Given the description of an element on the screen output the (x, y) to click on. 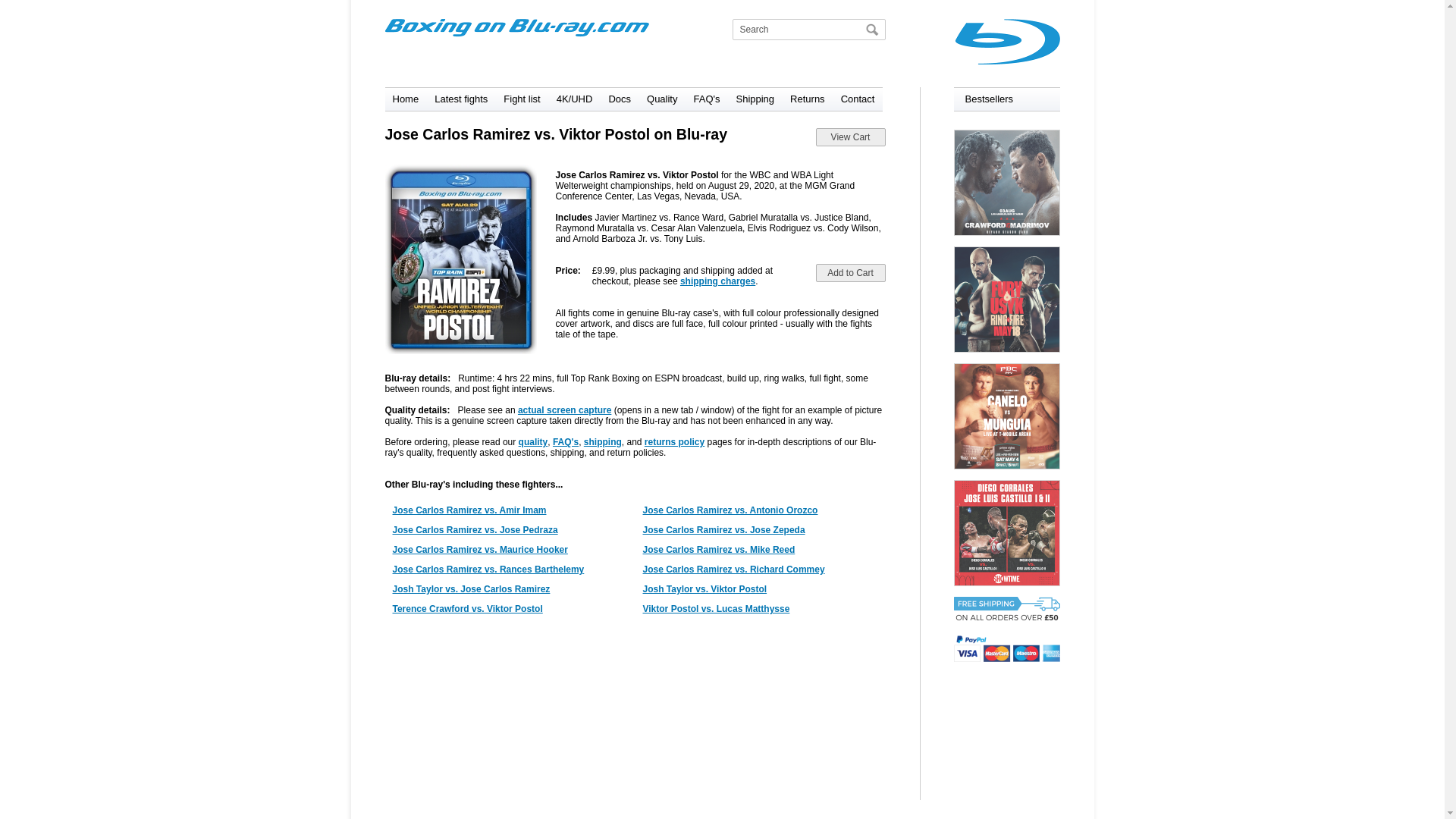
Jose Carlos Ramirez vs. Jose Pedraza (475, 529)
actual screen capture (564, 409)
quality (533, 441)
Jose Carlos Ramirez vs. Richard Commey (734, 569)
Latest fights (461, 99)
Home (406, 99)
shipping charges (717, 281)
Oleksandr Usyk vs. Tyson Fury TNT Blu-ray (1006, 299)
Search (870, 29)
Viktor Postol vs. Lucas Matthysse (716, 608)
